Given the description of an element on the screen output the (x, y) to click on. 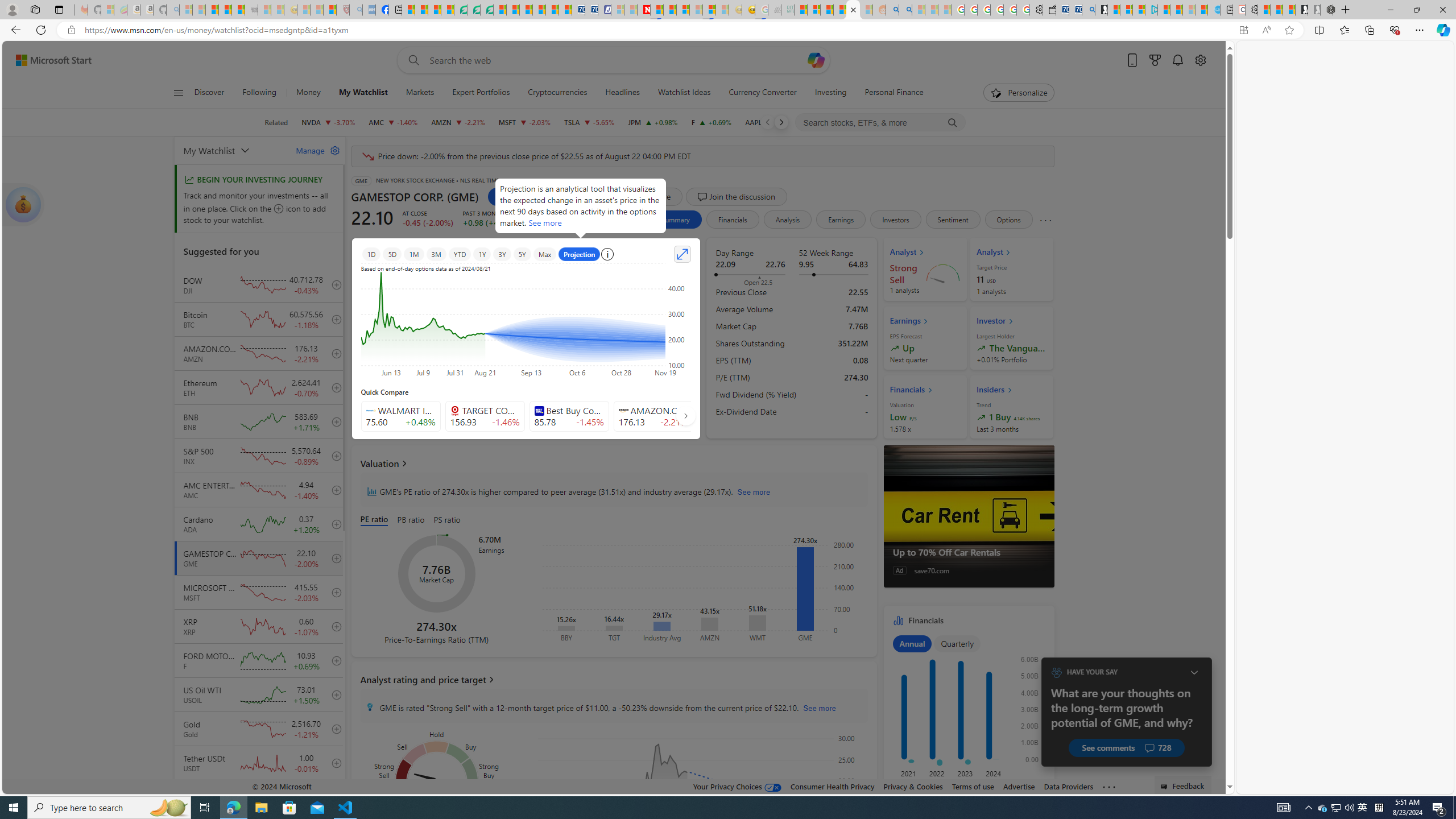
Open settings (1199, 60)
1Y (482, 254)
Investing (830, 92)
Manage (312, 150)
Search stocks, ETFs, & more (880, 122)
Markets (420, 92)
Financials (732, 219)
